Given the description of an element on the screen output the (x, y) to click on. 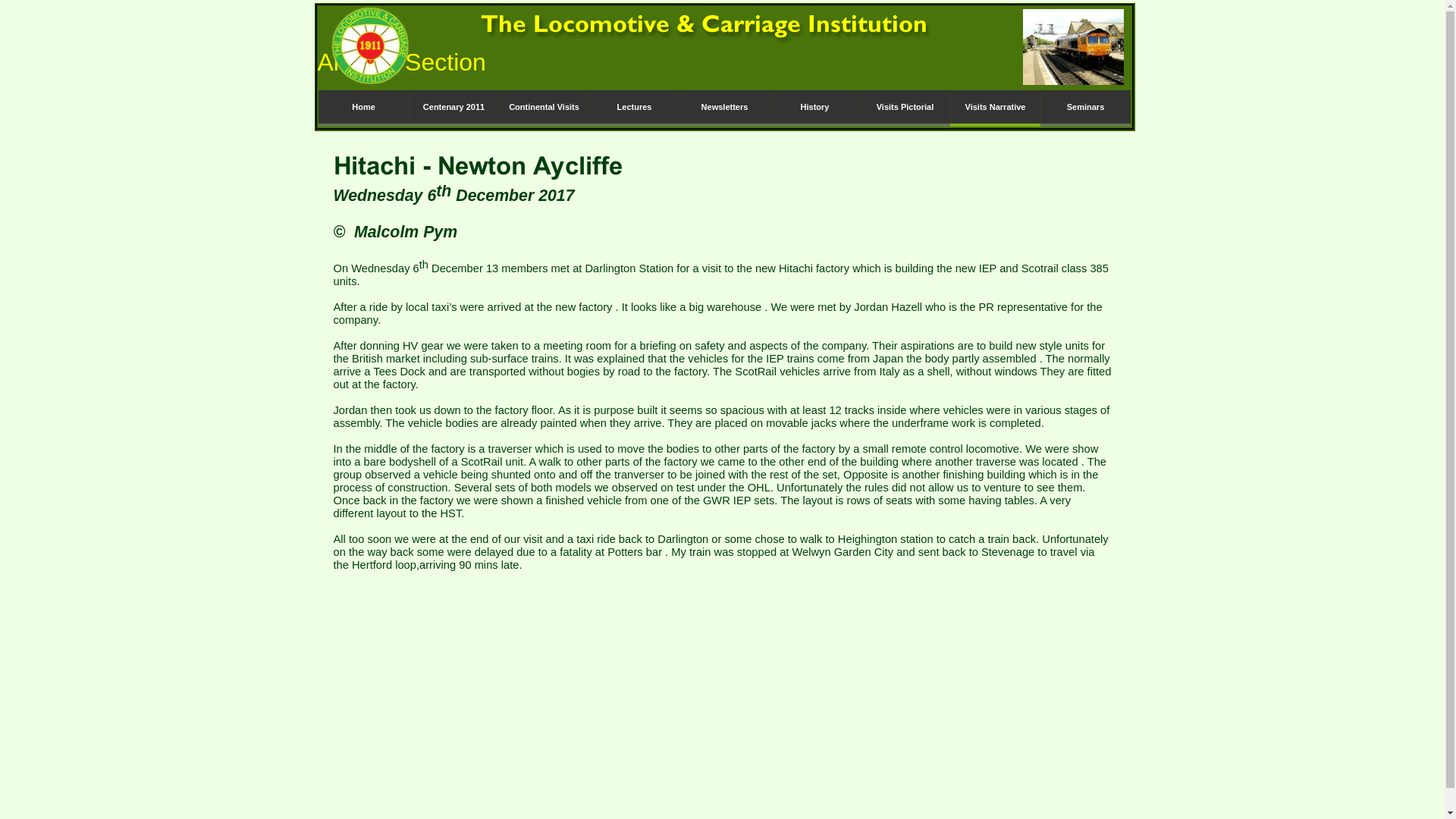
Centenary 2011 (452, 108)
Home (363, 108)
History (813, 108)
Visits Pictorial (905, 108)
Lectures (633, 108)
Seminars (1086, 108)
Visits Narrative (994, 108)
Newsletters (724, 108)
Continental Visits (544, 108)
